Given the description of an element on the screen output the (x, y) to click on. 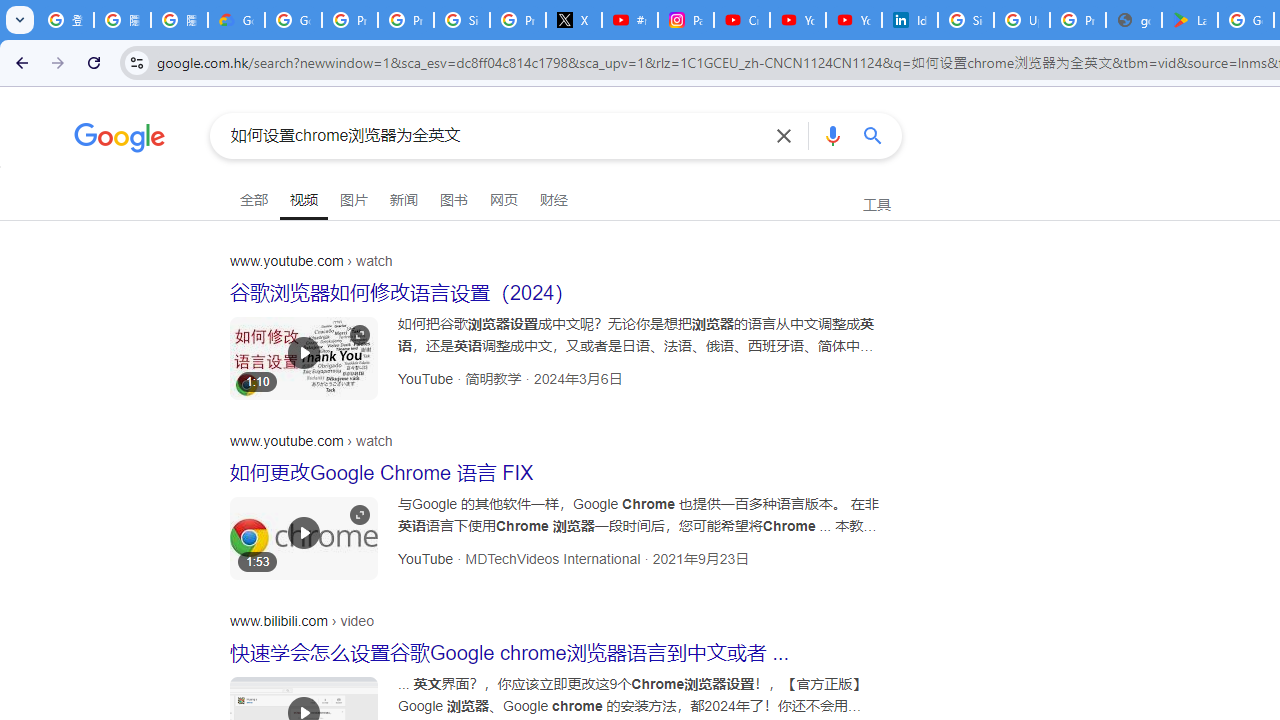
YouTube Culture & Trends - YouTube Top 10, 2021 (853, 20)
Sign in - Google Accounts (461, 20)
Google Cloud Privacy Notice (235, 20)
Sign in - Google Accounts (966, 20)
Last Shelter: Survival - Apps on Google Play (1190, 20)
